Given the description of an element on the screen output the (x, y) to click on. 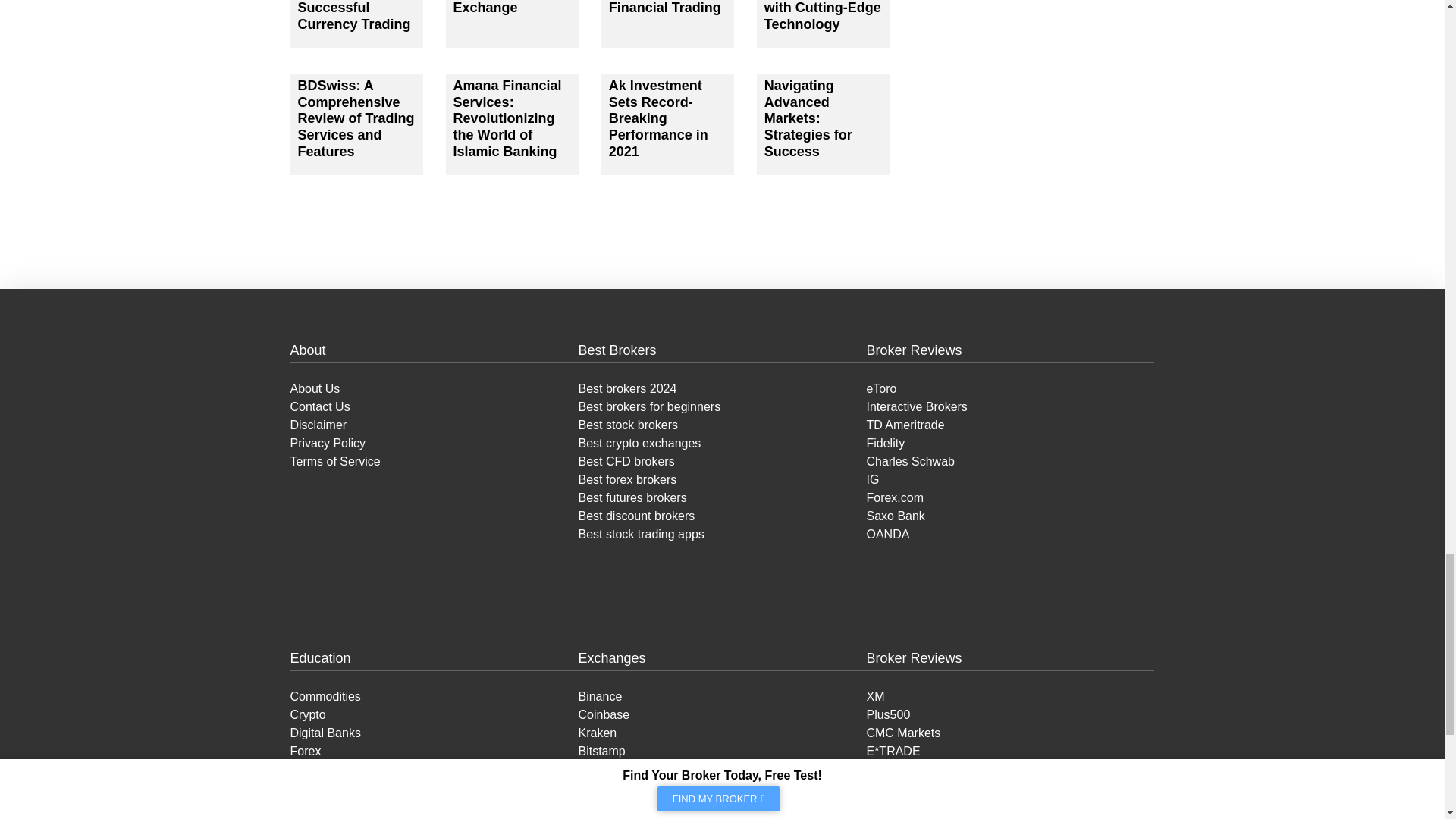
Ak Investment Sets Record-Breaking Performance in 2021 (657, 117)
Navigating Advanced Markets: Strategies for Success (807, 117)
CFH Clearing: Setting New Standards in Financial Trading (664, 7)
Conotoxia: Revolutionizing Global Currency Exchange (505, 7)
